Given the description of an element on the screen output the (x, y) to click on. 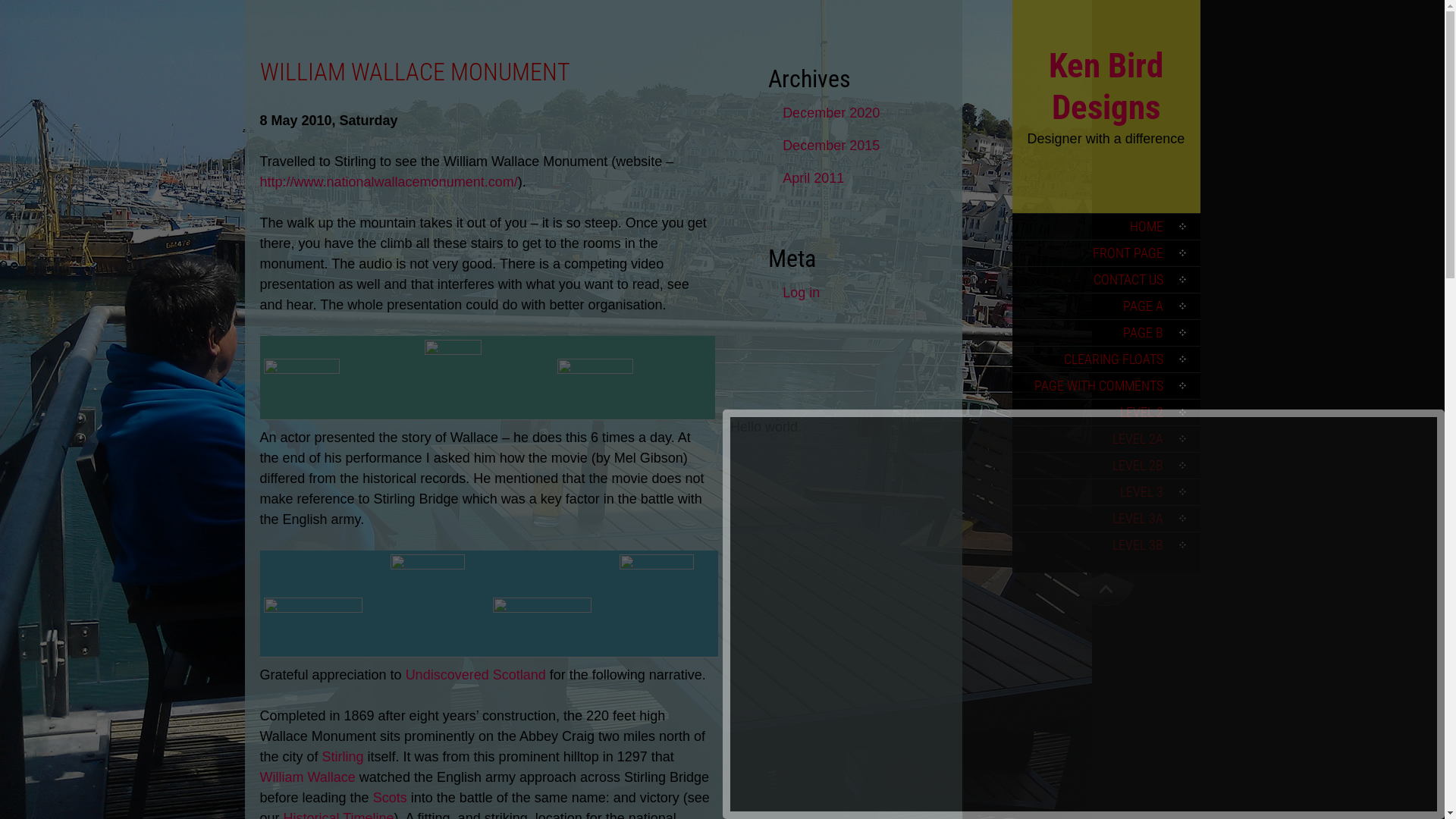
http://www.nationalwallacemonument.com/ Element type: text (388, 181)
LEVEL 2B Element type: text (1105, 464)
HOME Element type: text (1105, 225)
December 2015 Element type: text (864, 145)
PAGE A Element type: text (1105, 305)
LEVEL 3B Element type: text (1105, 544)
PAGE WITH COMMENTS Element type: text (1105, 385)
Stirling Element type: text (343, 756)
SKIP TO CONTENT Element type: text (1037, 236)
OLYMPUS DIGITAL CAMERA Element type: hover (452, 377)
Log in Element type: text (864, 292)
April 2011 Element type: text (864, 178)
CLEARING FLOATS Element type: text (1105, 358)
LEVEL 2A Element type: text (1105, 438)
Ken Bird Designs Element type: text (1105, 86)
December 2020 Element type: text (864, 113)
FRONT PAGE Element type: text (1105, 252)
OLYMPUS DIGITAL CAMERA Element type: hover (301, 386)
Undiscovered Scotland Element type: text (475, 674)
William Wallace Element type: text (306, 776)
PAGE B Element type: text (1105, 332)
Wallace_03img_130pxw Element type: hover (541, 624)
LEVEL 3A Element type: text (1105, 517)
LEVEL 2 Element type: text (1105, 411)
Wallace_01img_130pxw Element type: hover (312, 624)
Wallace_04img_98pxw Element type: hover (655, 603)
CONTACT US Element type: text (1105, 278)
OLYMPUS DIGITAL CAMERA Element type: hover (595, 386)
LEVEL 3 Element type: text (1105, 491)
Scots Element type: text (390, 797)
Wallace_02img_98pxw Element type: hover (426, 603)
